Given the description of an element on the screen output the (x, y) to click on. 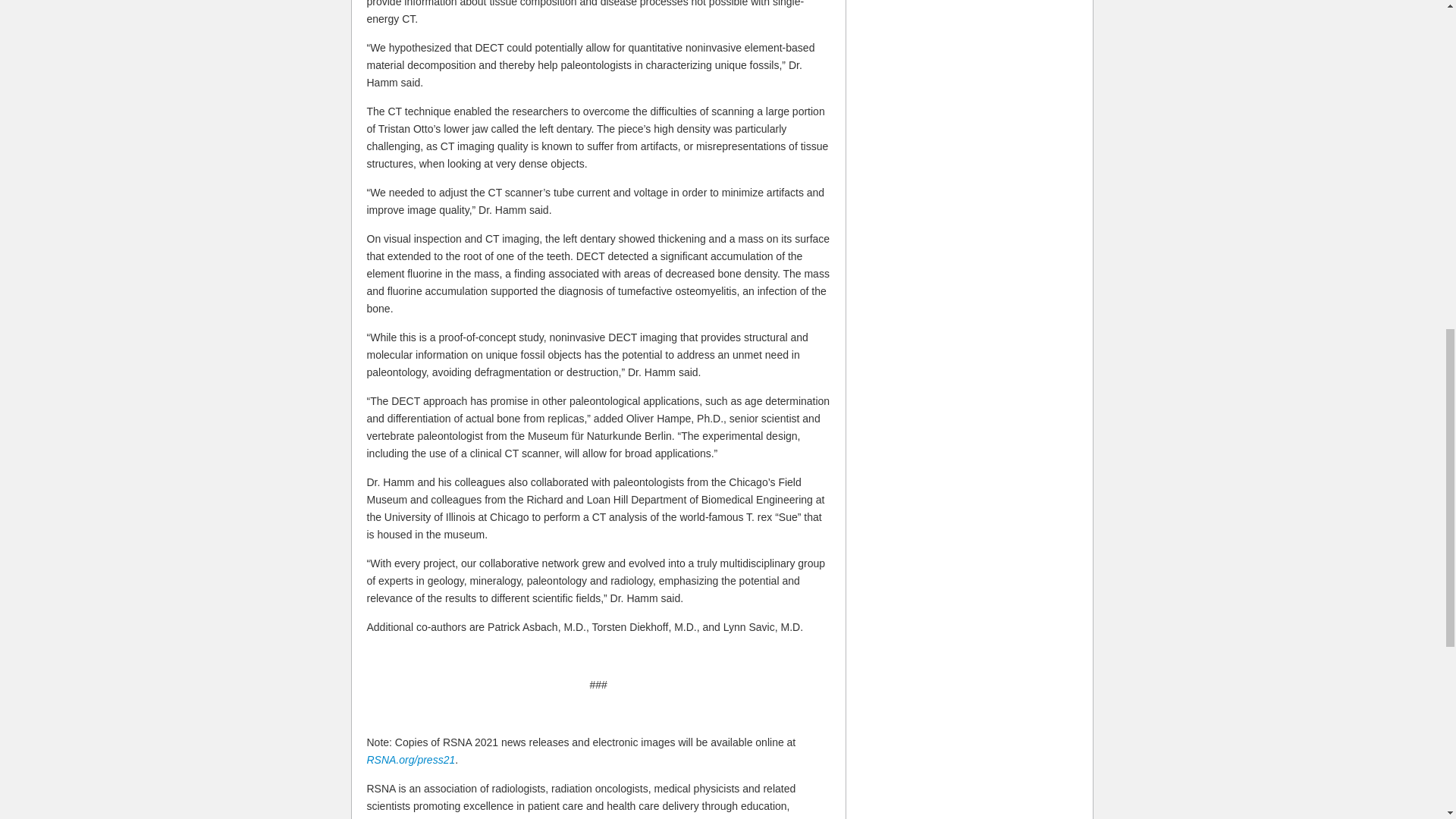
RSNA.org (773, 818)
